Given the description of an element on the screen output the (x, y) to click on. 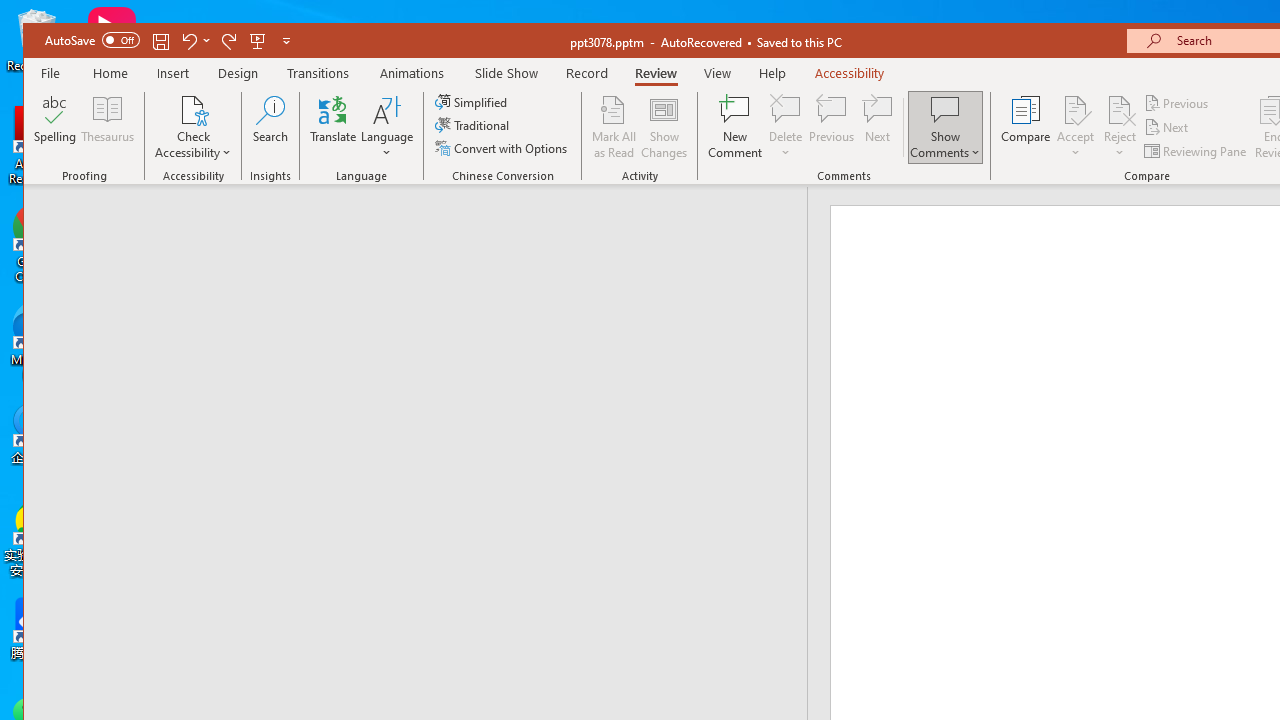
Spelling... (55, 127)
Search (270, 127)
